Given the description of an element on the screen output the (x, y) to click on. 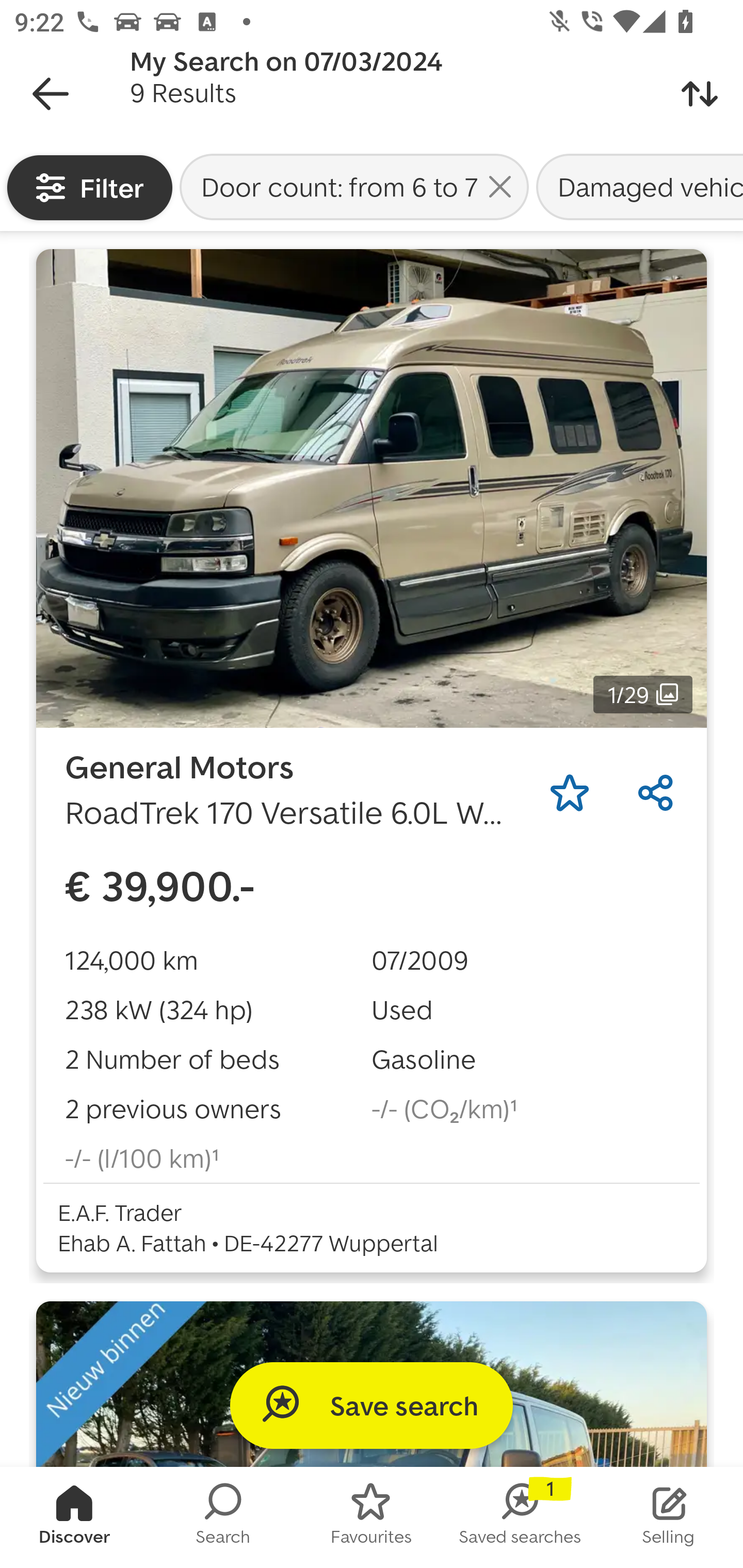
Navigate up (50, 93)
Sort (699, 93)
Filter (89, 187)
Door count: from 6 to 7 (354, 186)
Damaged vehicle: Show also (637, 186)
Save search (371, 1405)
HOMESCREEN Discover (74, 1517)
SEARCH Search (222, 1517)
FAVORITES Favourites (371, 1517)
SAVED_SEARCHES Saved searches 1 (519, 1517)
STOCK_LIST Selling (668, 1517)
